Given the description of an element on the screen output the (x, y) to click on. 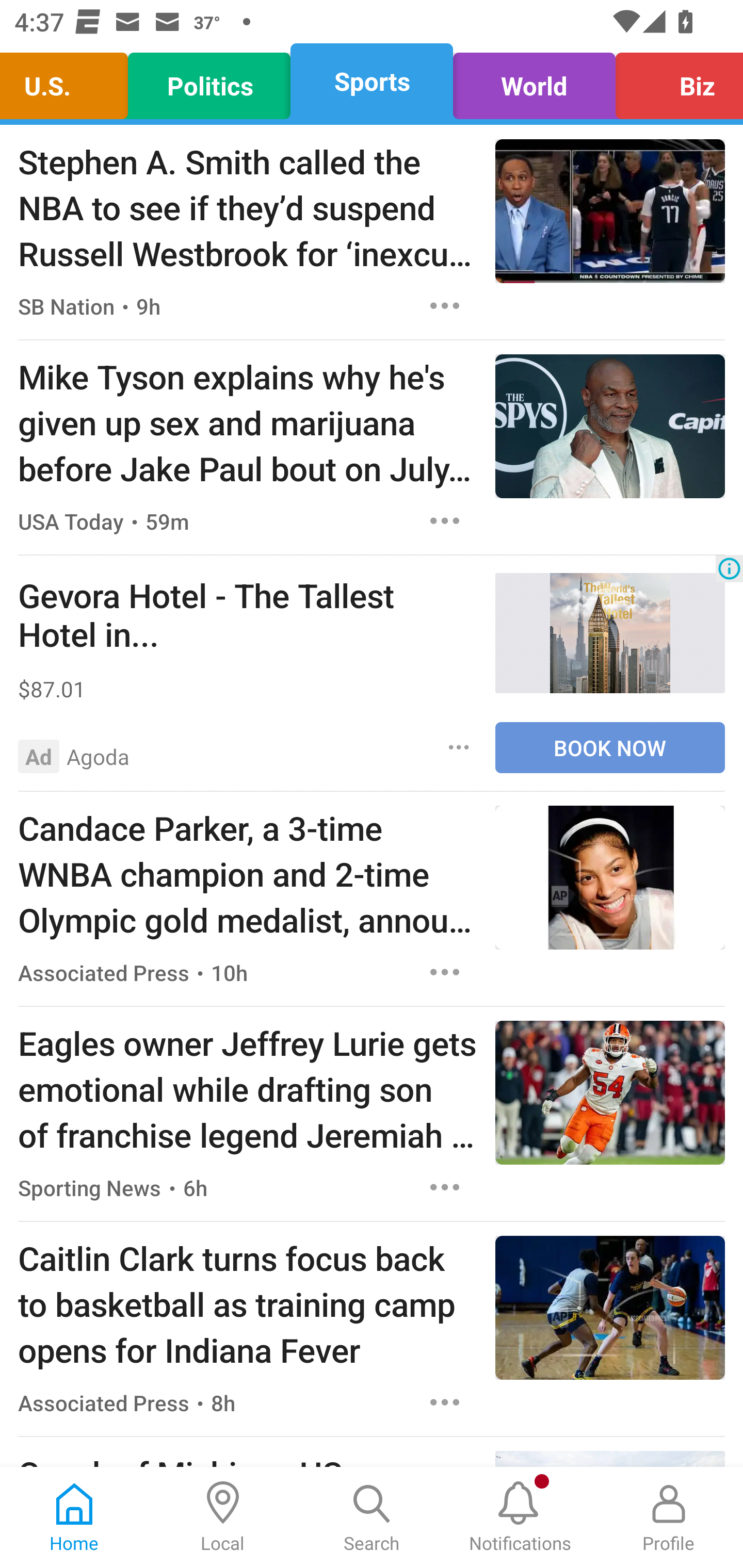
U.S. (69, 81)
Politics (209, 81)
Sports (371, 81)
World (534, 81)
Biz (673, 81)
Options (444, 305)
Options (444, 520)
Ad Choices Icon (729, 568)
Gevora Hotel - The Tallest Hotel in... (247, 613)
$87.01 (247, 689)
BOOK NOW (610, 747)
Options (459, 747)
Agoda (97, 756)
Options (444, 972)
Options (444, 1186)
Options (444, 1402)
Local (222, 1517)
Search (371, 1517)
Notifications, New notification Notifications (519, 1517)
Profile (668, 1517)
